Given the description of an element on the screen output the (x, y) to click on. 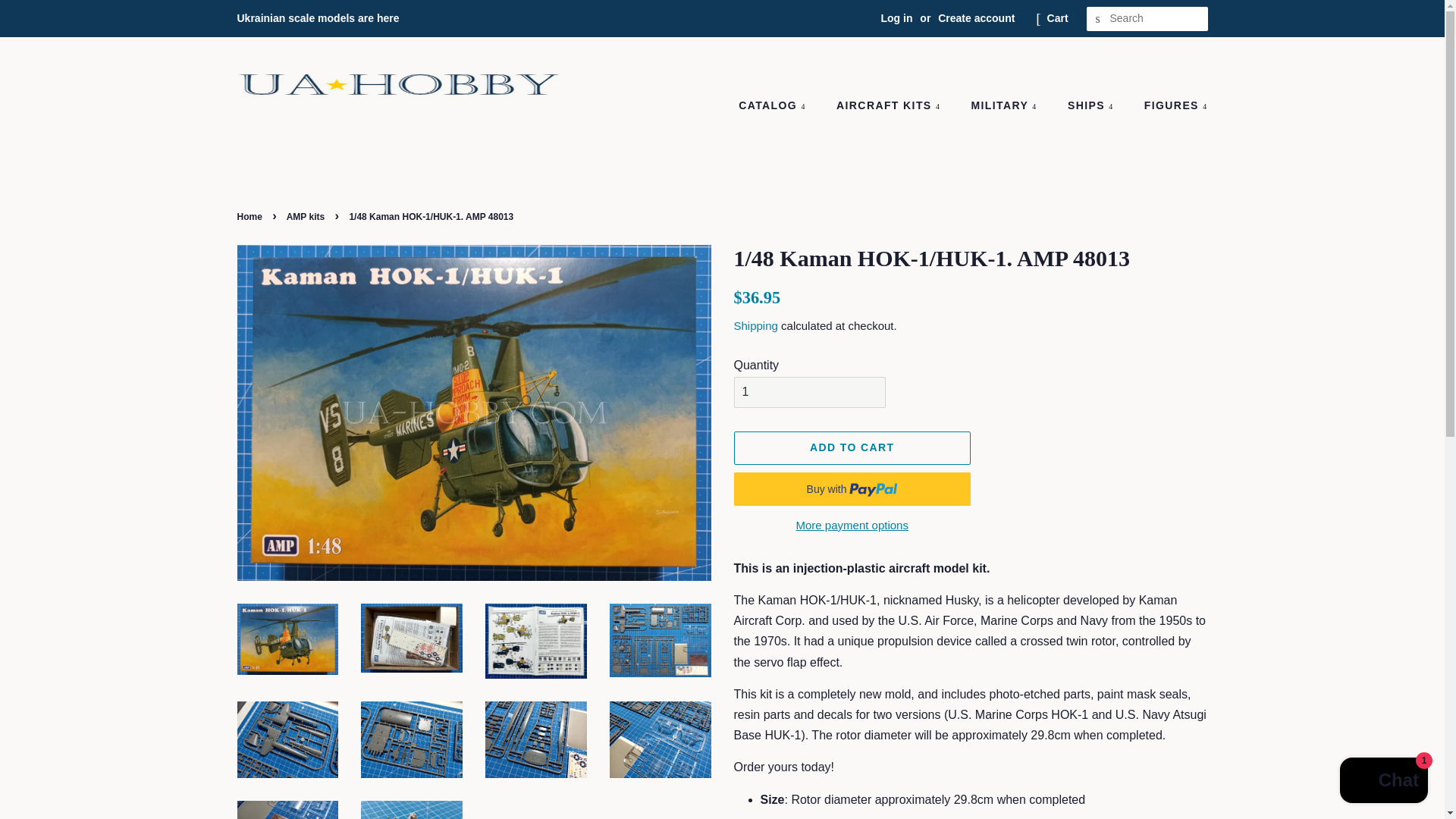
Log in (896, 18)
Create account (975, 18)
Cart (1057, 18)
1 (809, 391)
Back to the frontpage (249, 216)
Shopify online store chat (1383, 781)
SEARCH (1097, 18)
